Given the description of an element on the screen output the (x, y) to click on. 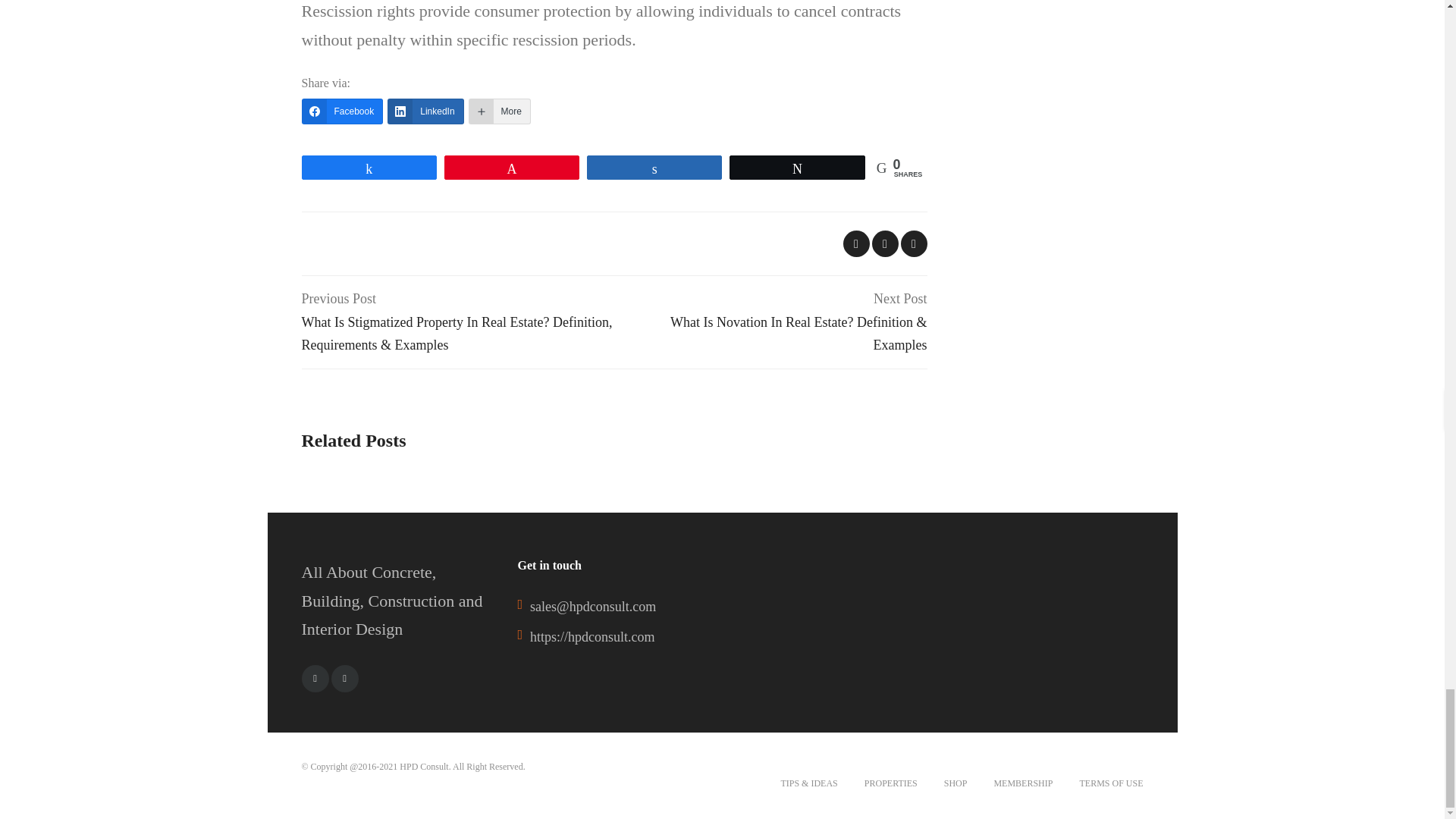
Facebook (342, 111)
Twitter (344, 678)
More (499, 111)
LinkedIn (425, 111)
Facebook (315, 678)
